Given the description of an element on the screen output the (x, y) to click on. 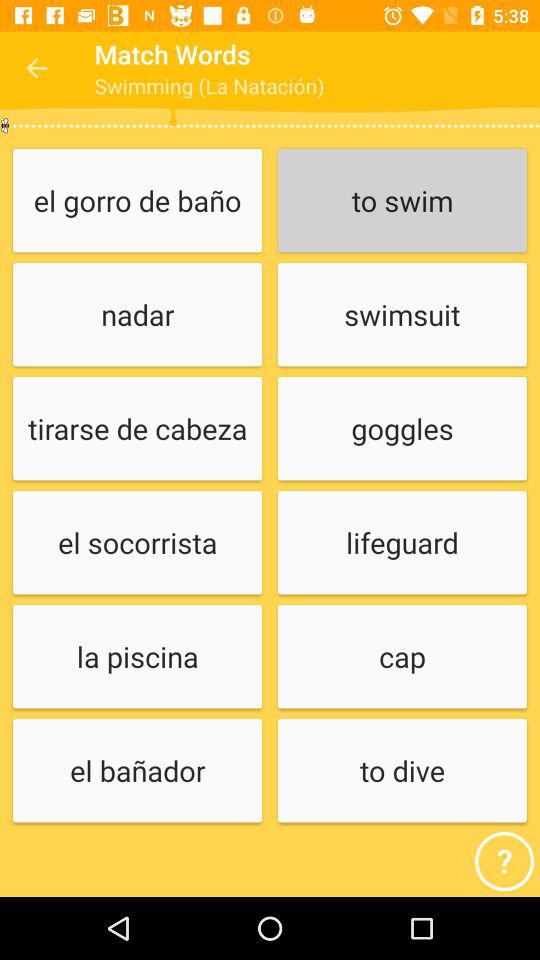
choose the icon below nadar (137, 429)
